Given the description of an element on the screen output the (x, y) to click on. 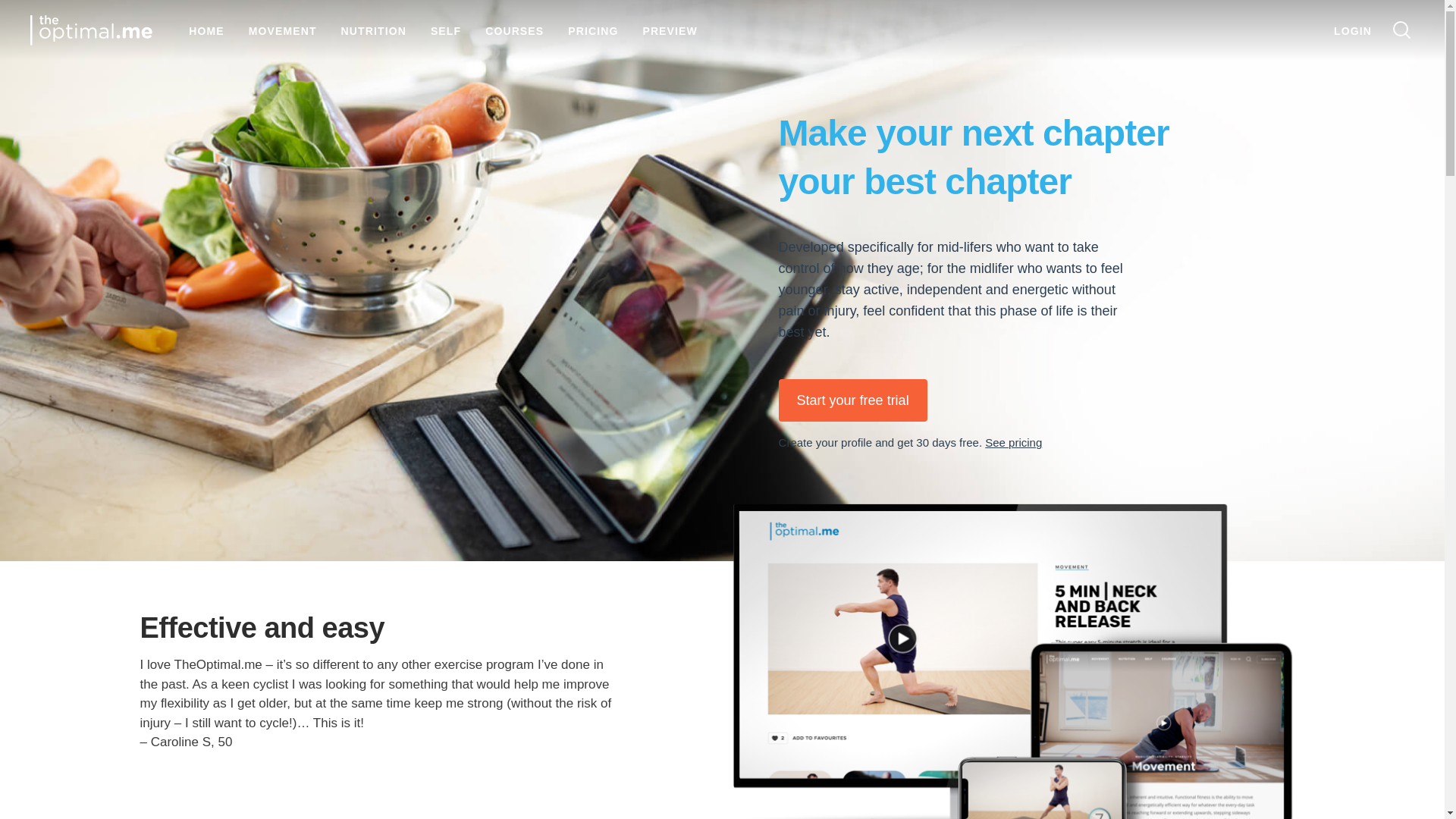
SELF (445, 30)
LOGIN (1352, 30)
Home (91, 30)
PRICING (592, 30)
See pricing (1013, 441)
Start your free trial (852, 400)
NUTRITION (373, 30)
HOME (206, 30)
PREVIEW (669, 30)
COURSES (513, 30)
MOVEMENT (282, 30)
